Given the description of an element on the screen output the (x, y) to click on. 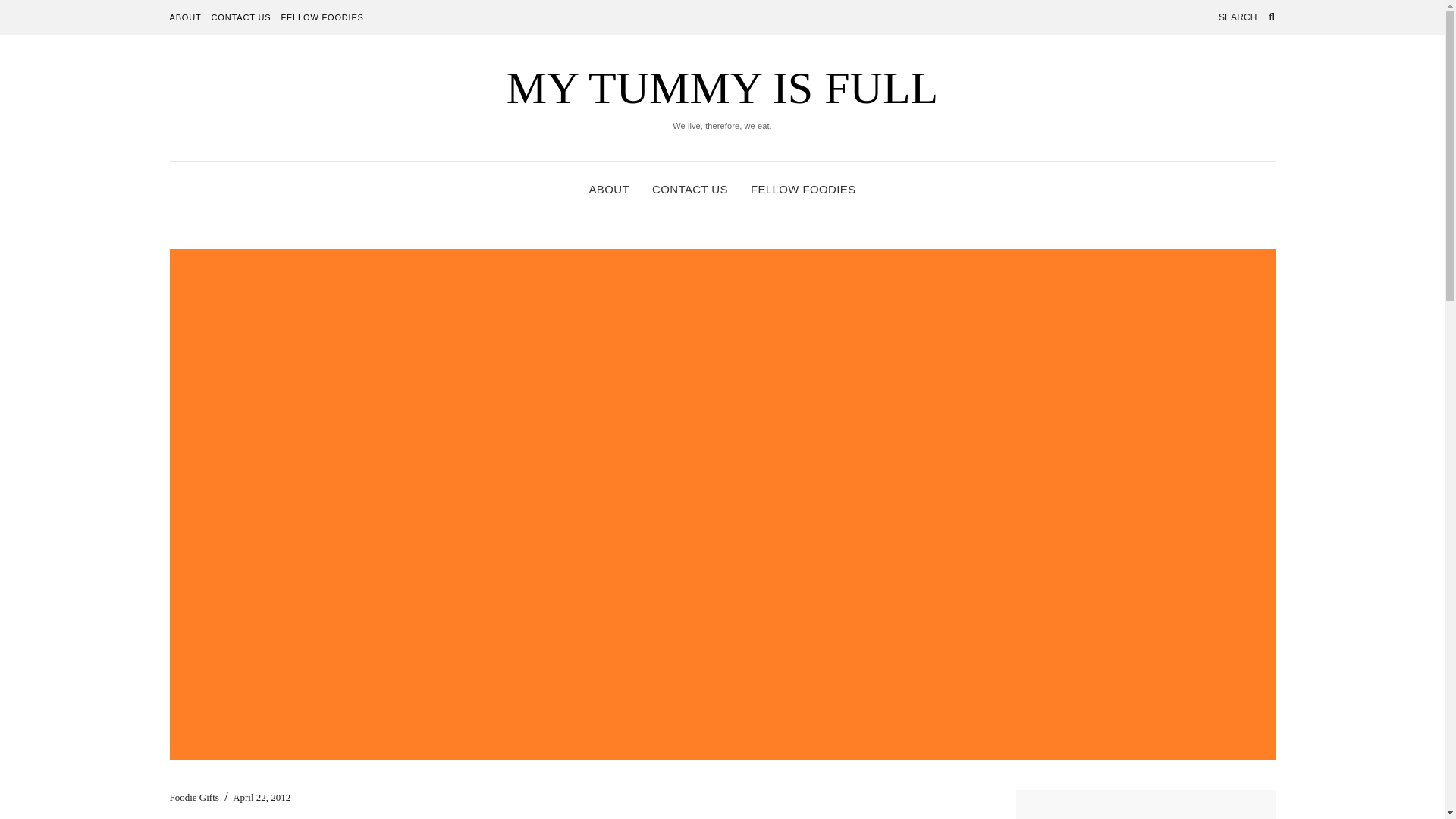
CONTACT US (240, 17)
MY TUMMY IS FULL (722, 88)
CONTACT US (690, 189)
Foodie Gifts (194, 797)
FELLOW FOODIES (803, 189)
ABOUT (186, 17)
FELLOW FOODIES (321, 17)
